Given the description of an element on the screen output the (x, y) to click on. 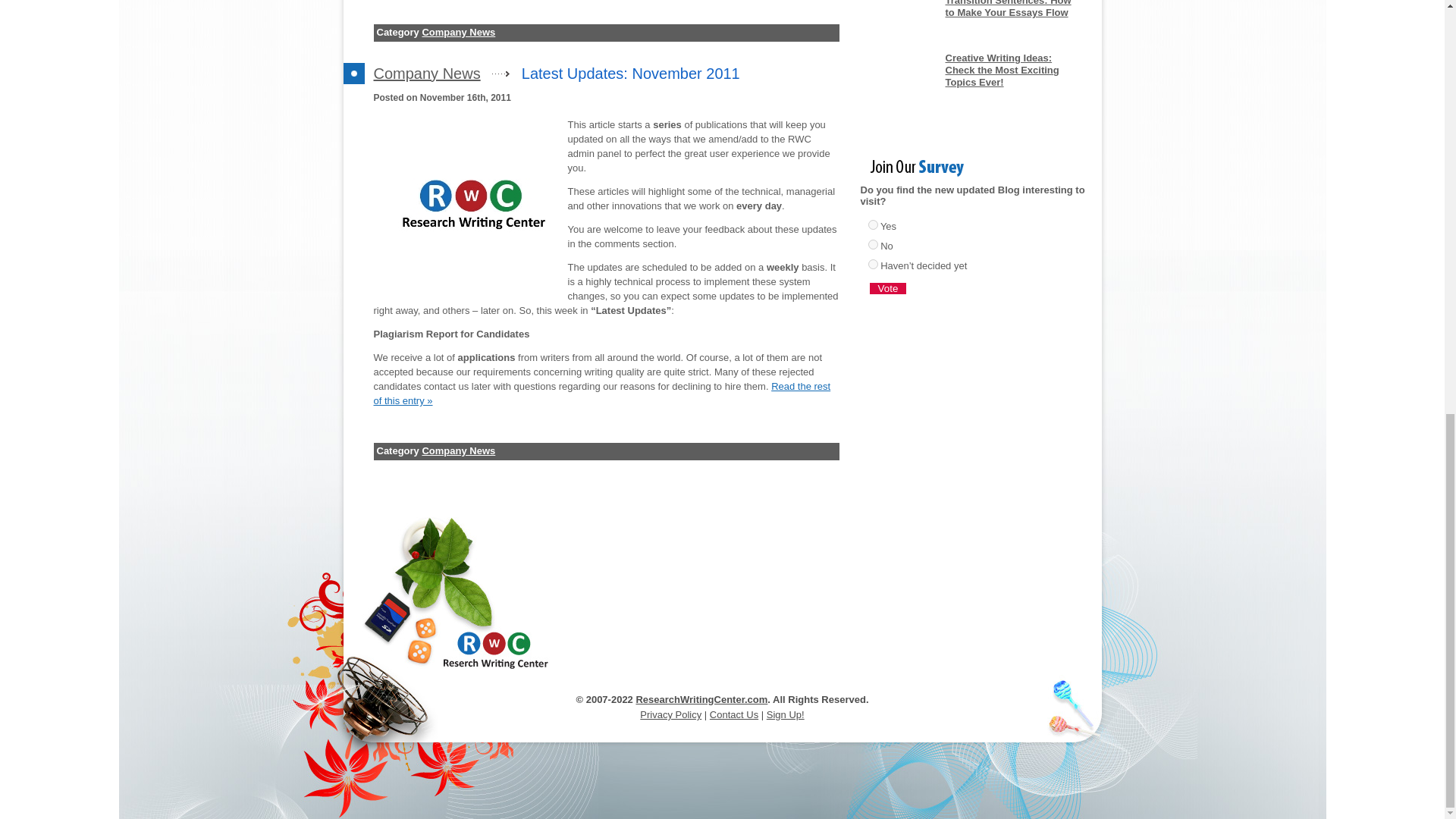
View all posts in Company News (426, 73)
Latest Updates: November 2011 (630, 73)
View all posts in Company News (458, 31)
View all posts in Company News (458, 450)
Company News (426, 73)
Company News (458, 450)
8 (872, 264)
RWC logo  (469, 204)
Company News (458, 31)
7 (872, 244)
